Given the description of an element on the screen output the (x, y) to click on. 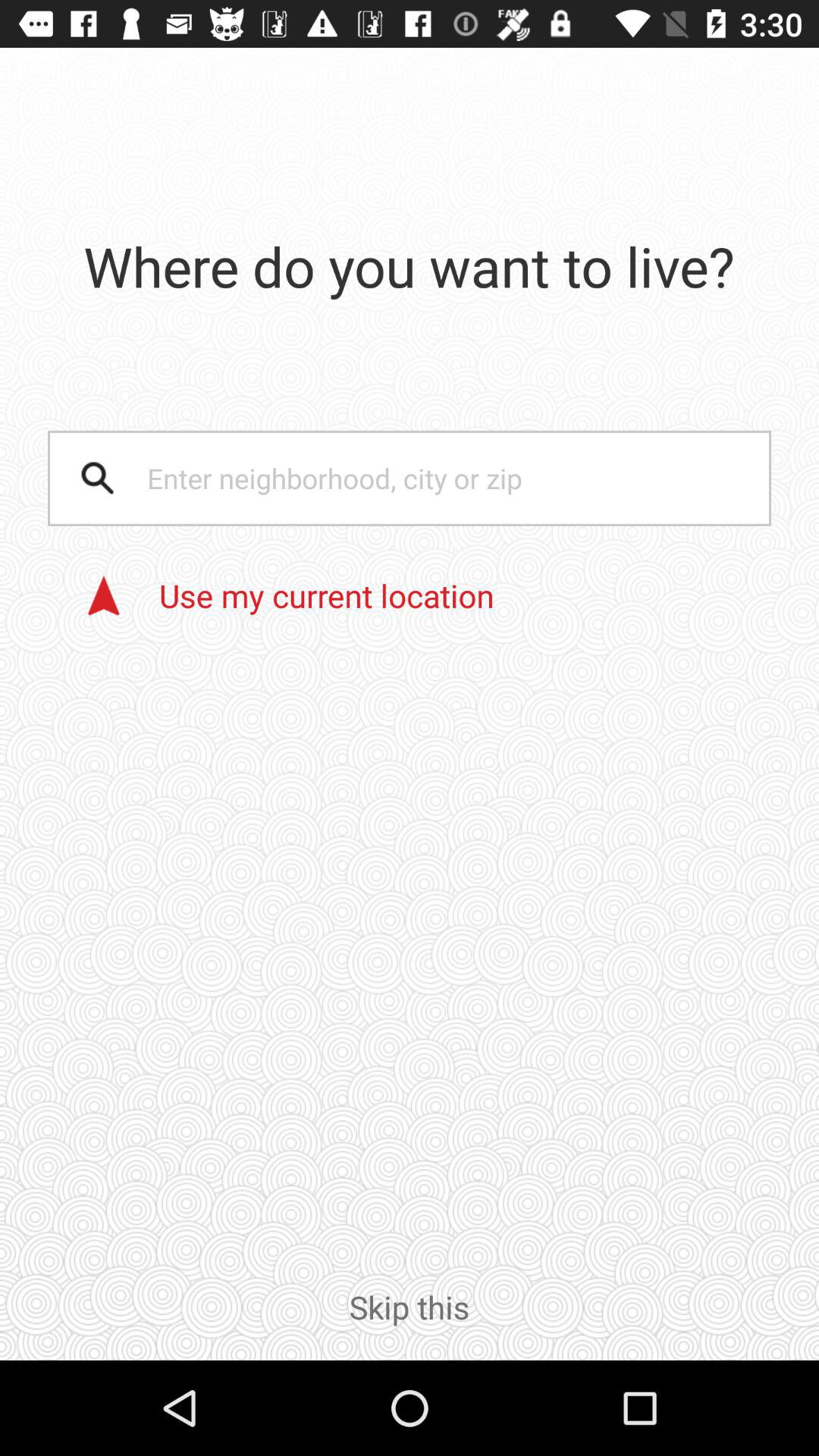
turn off the item below the use my current icon (409, 1322)
